Given the description of an element on the screen output the (x, y) to click on. 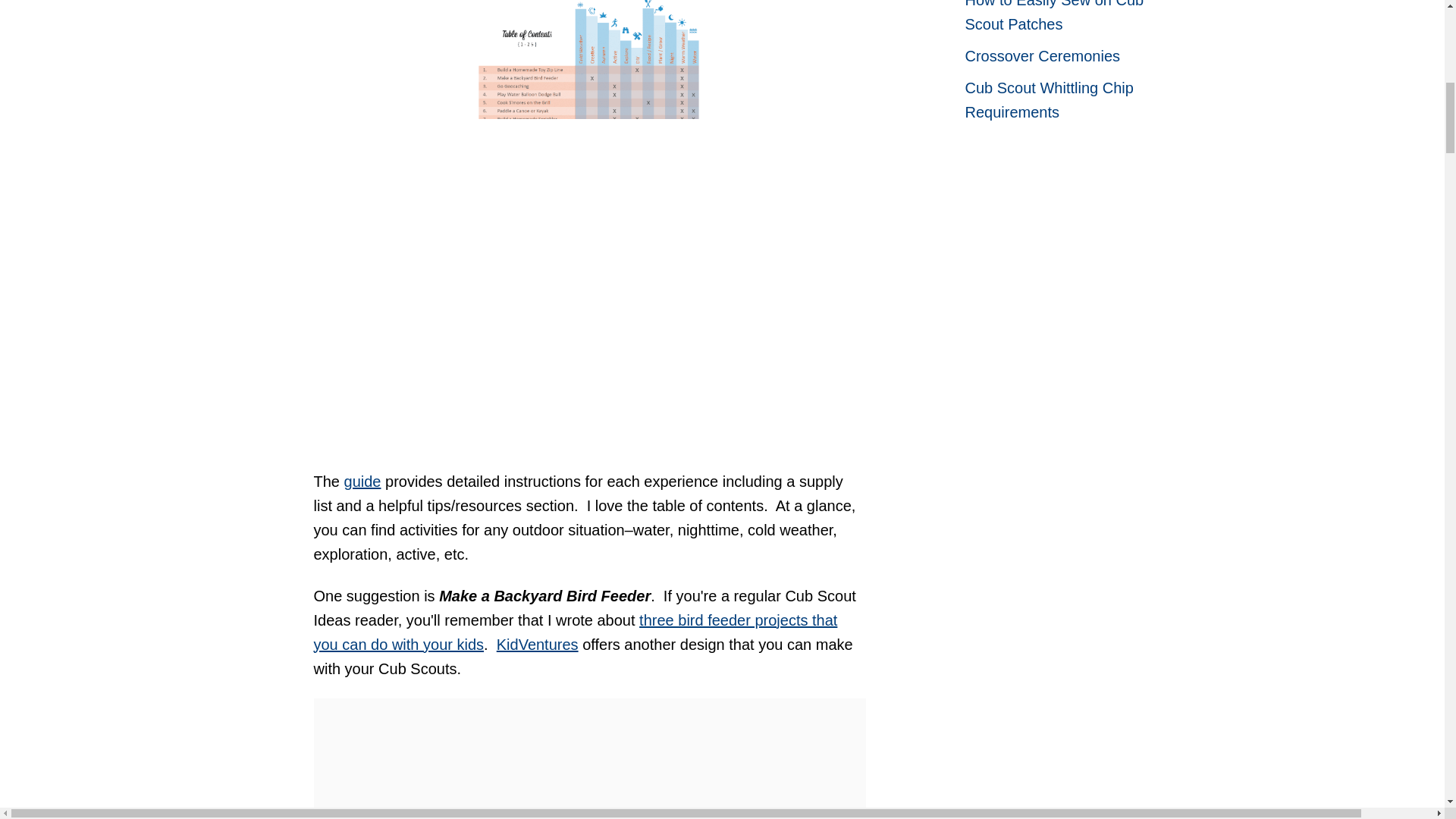
KidVentures (537, 644)
Bird Feeders for Kids to Make (576, 631)
